Given the description of an element on the screen output the (x, y) to click on. 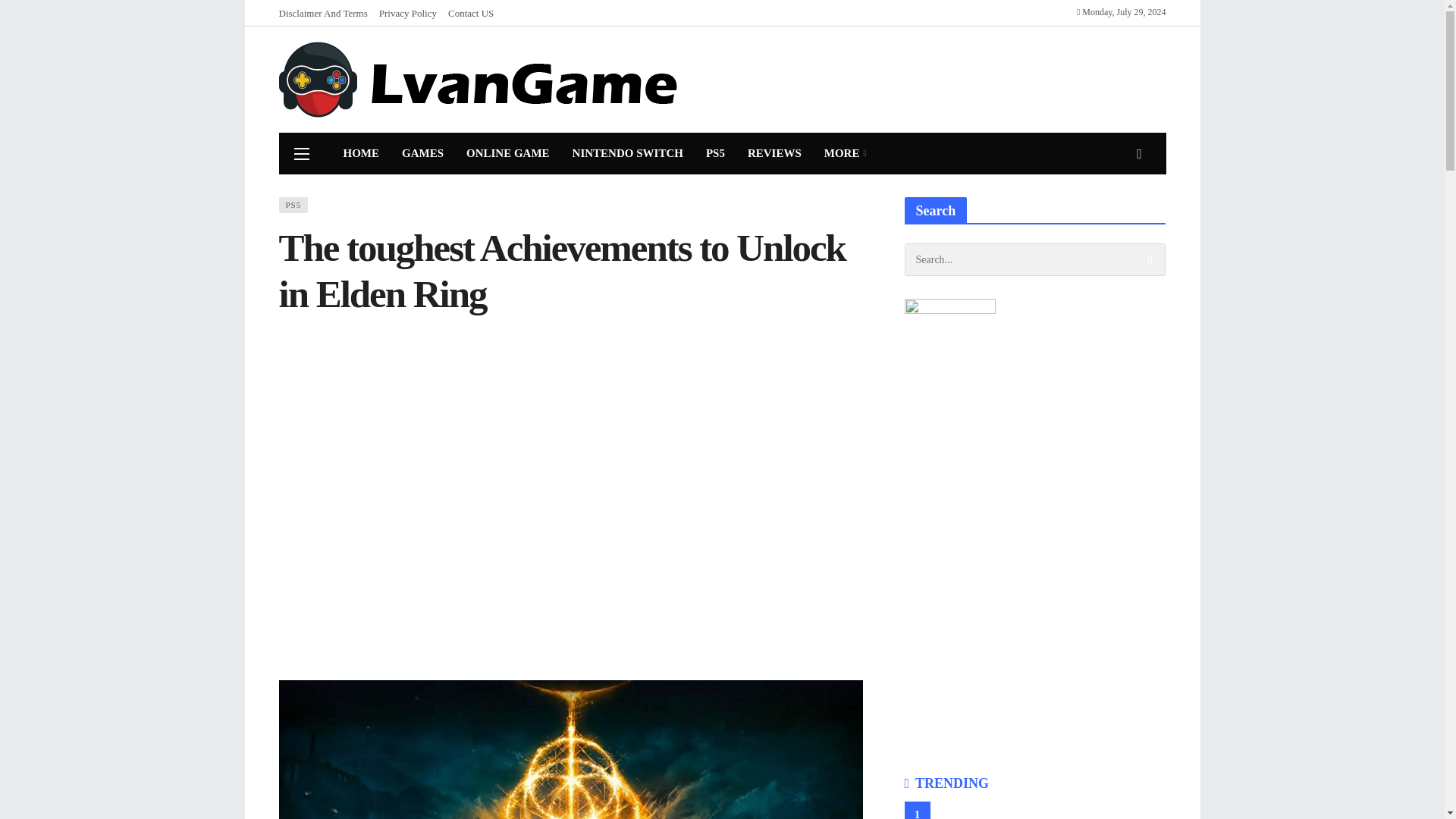
NINTENDO SWITCH (627, 153)
PS5 (293, 204)
HOME (361, 153)
PS5 (715, 153)
Disclaimer And Terms (328, 13)
REVIEWS (774, 153)
ONLINE GAME (507, 153)
MORE (844, 153)
Contact US (470, 13)
Privacy Policy (413, 13)
GAMES (422, 153)
